Given the description of an element on the screen output the (x, y) to click on. 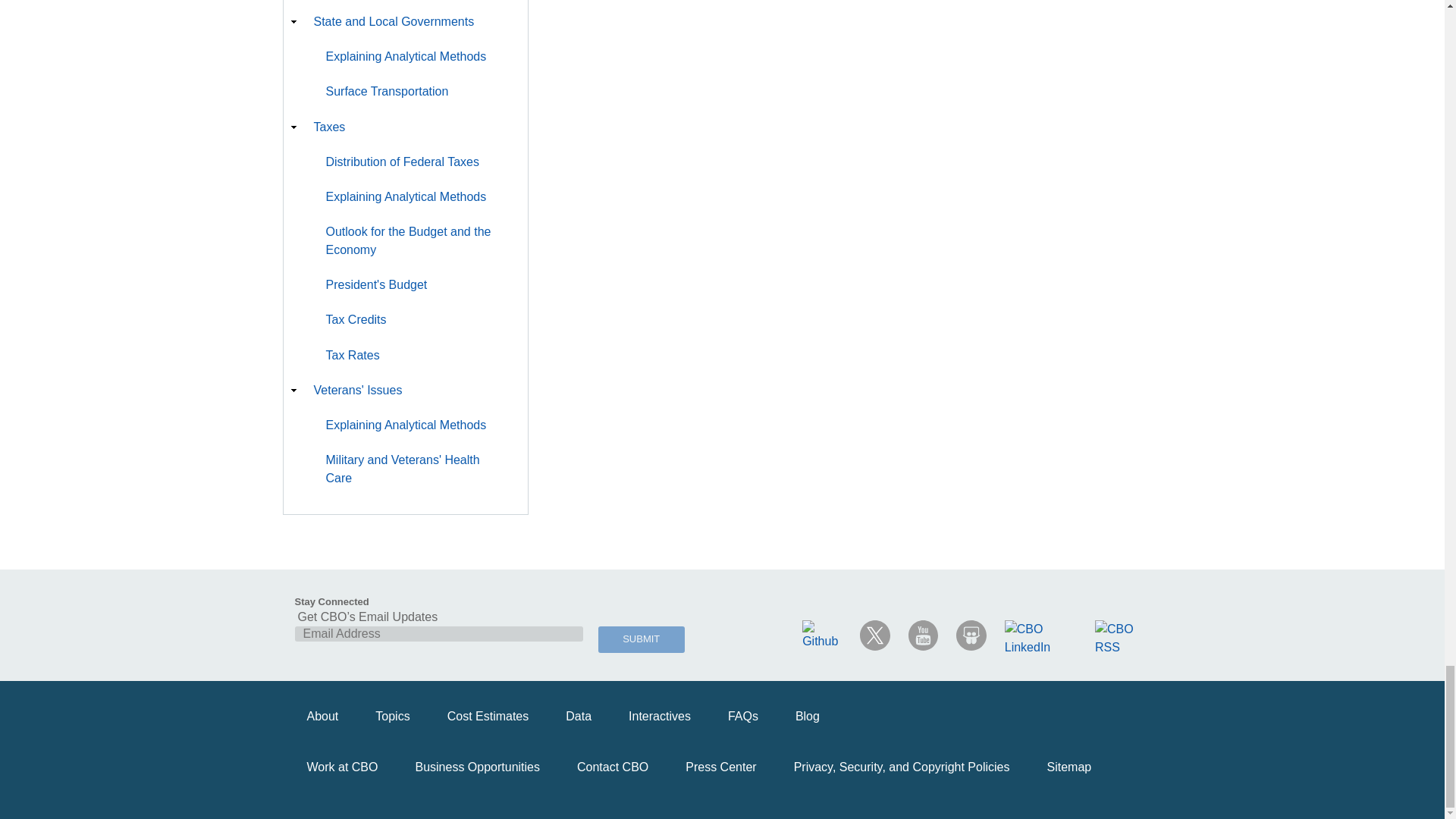
CBO Slideshare (971, 634)
CBO Youtube (923, 634)
CBO X (874, 634)
CBO RSS (1122, 637)
CBO LinkedIn (1040, 637)
